Given the description of an element on the screen output the (x, y) to click on. 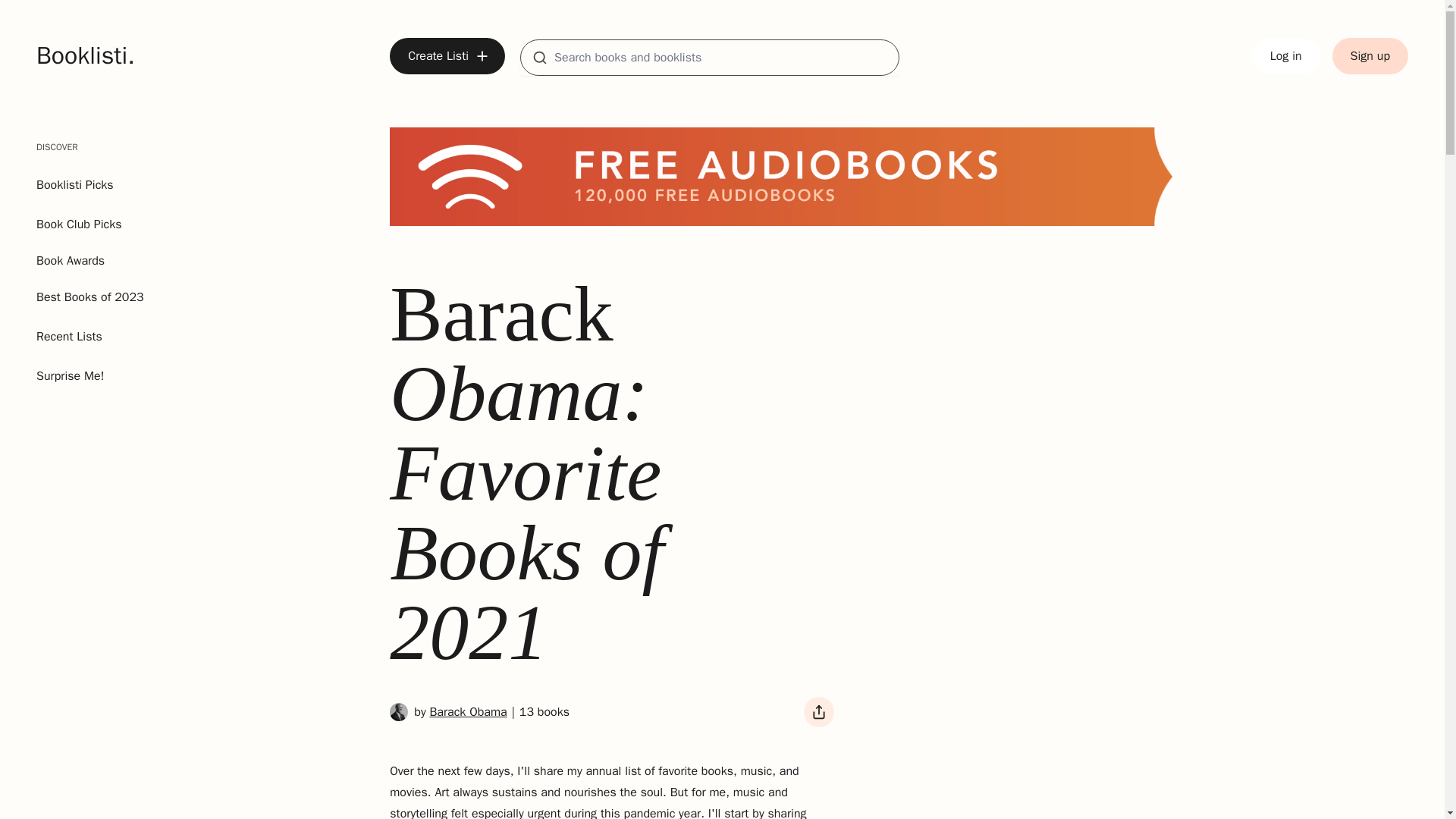
Create Listi (447, 55)
Booklisti. (85, 55)
Booklisti Picks (74, 184)
Book Awards (90, 260)
Best Books of 2023 (90, 297)
Recent Lists (90, 336)
Surprise Me! (90, 375)
Log in (1286, 55)
Sign up (448, 711)
Book Club Picks (1369, 55)
